Given the description of an element on the screen output the (x, y) to click on. 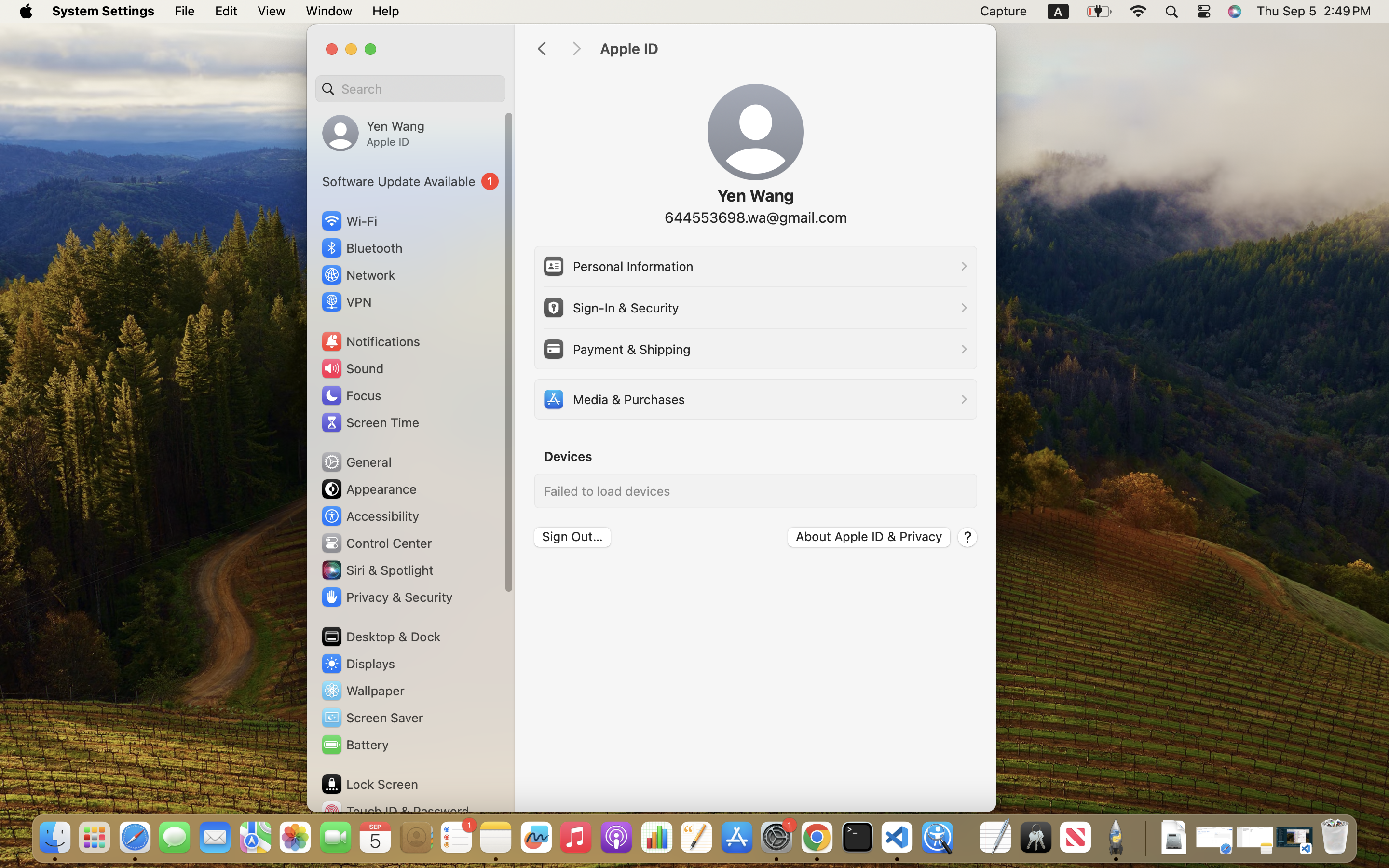
Network Element type: AXStaticText (357, 274)
Bluetooth Element type: AXStaticText (361, 247)
Notifications Element type: AXStaticText (370, 340)
General Element type: AXStaticText (355, 461)
Screen Saver Element type: AXStaticText (371, 717)
